Given the description of an element on the screen output the (x, y) to click on. 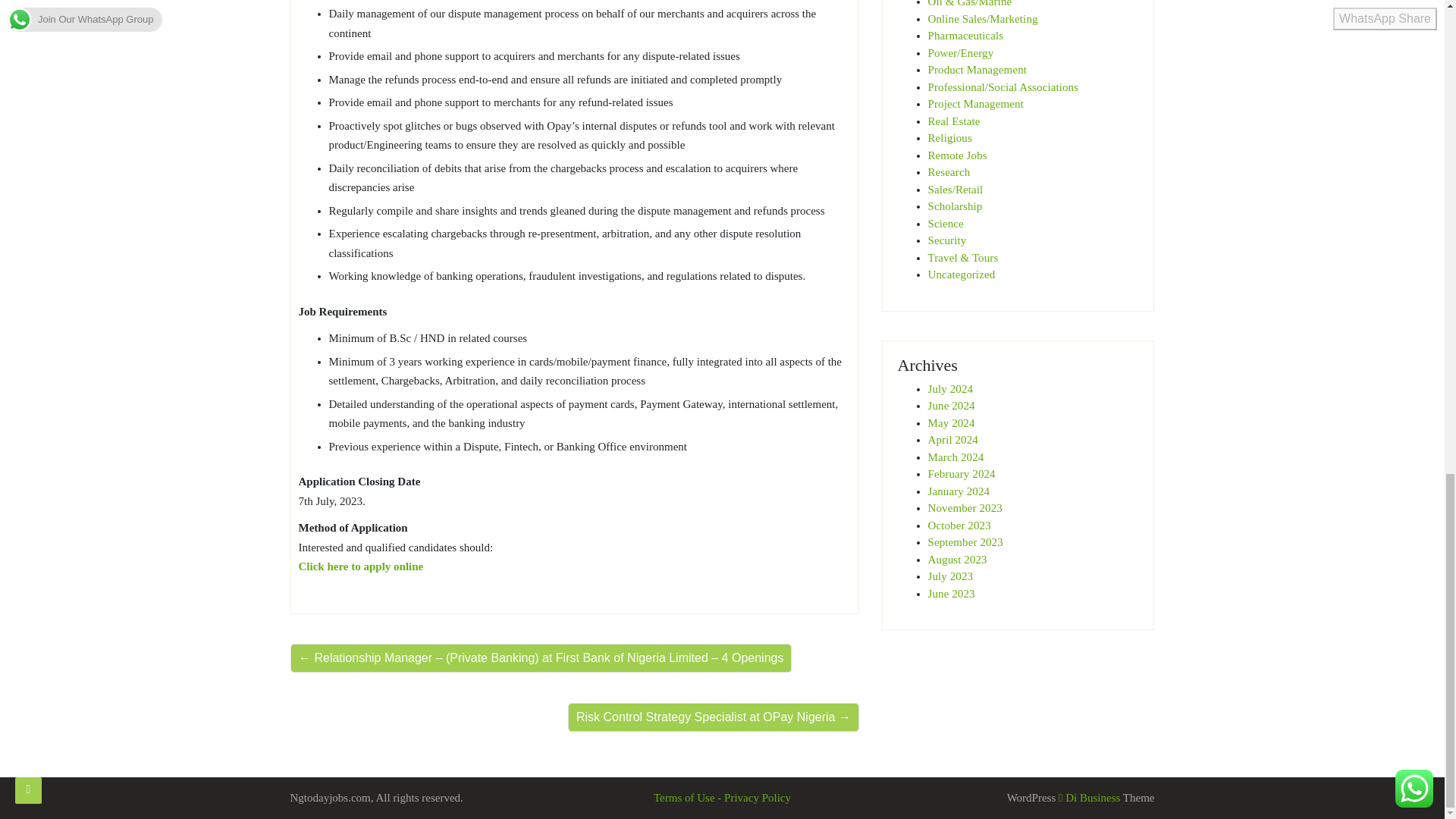
Click here to apply online (360, 566)
